Given the description of an element on the screen output the (x, y) to click on. 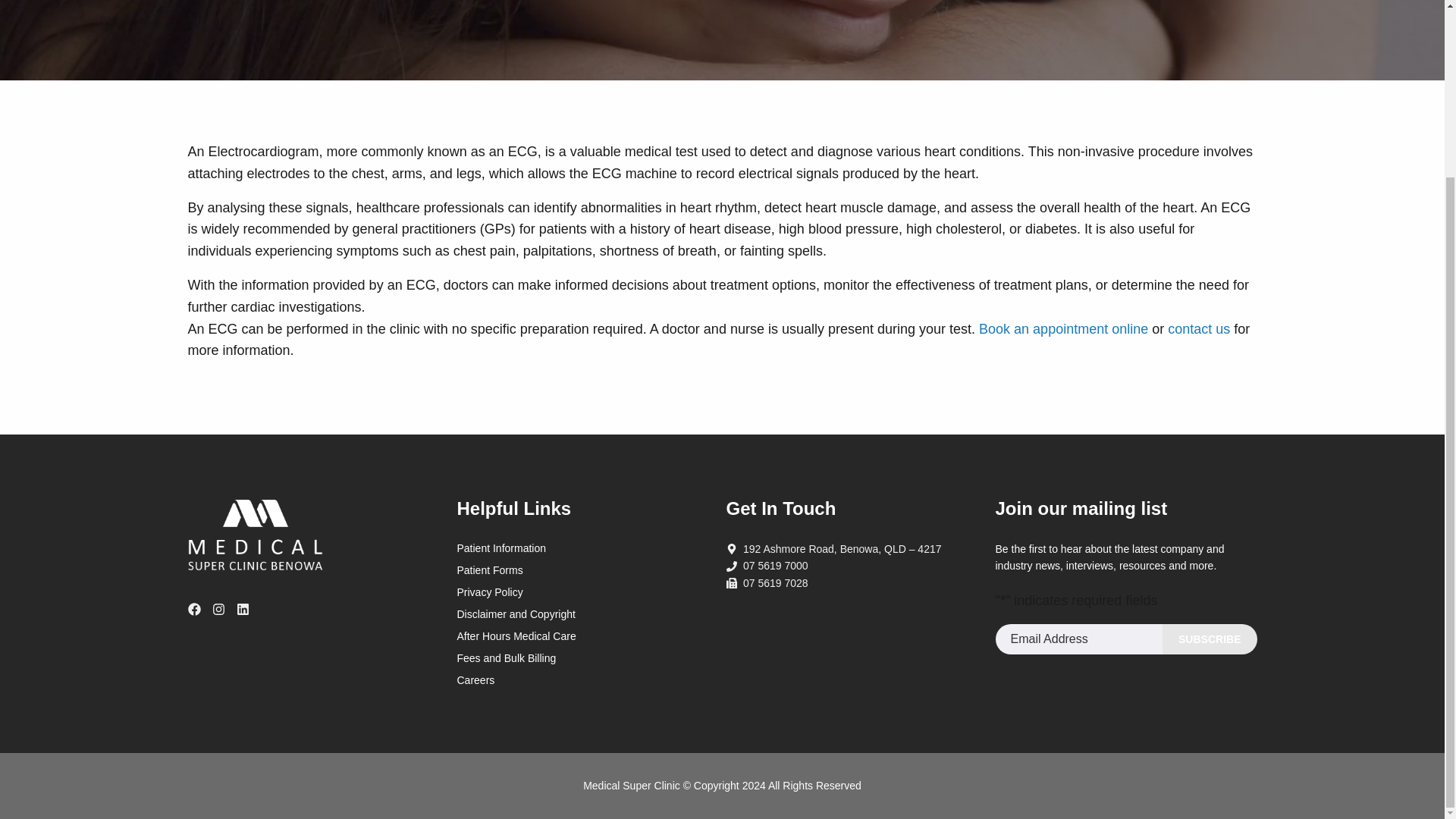
Subscribe (1208, 638)
